Given the description of an element on the screen output the (x, y) to click on. 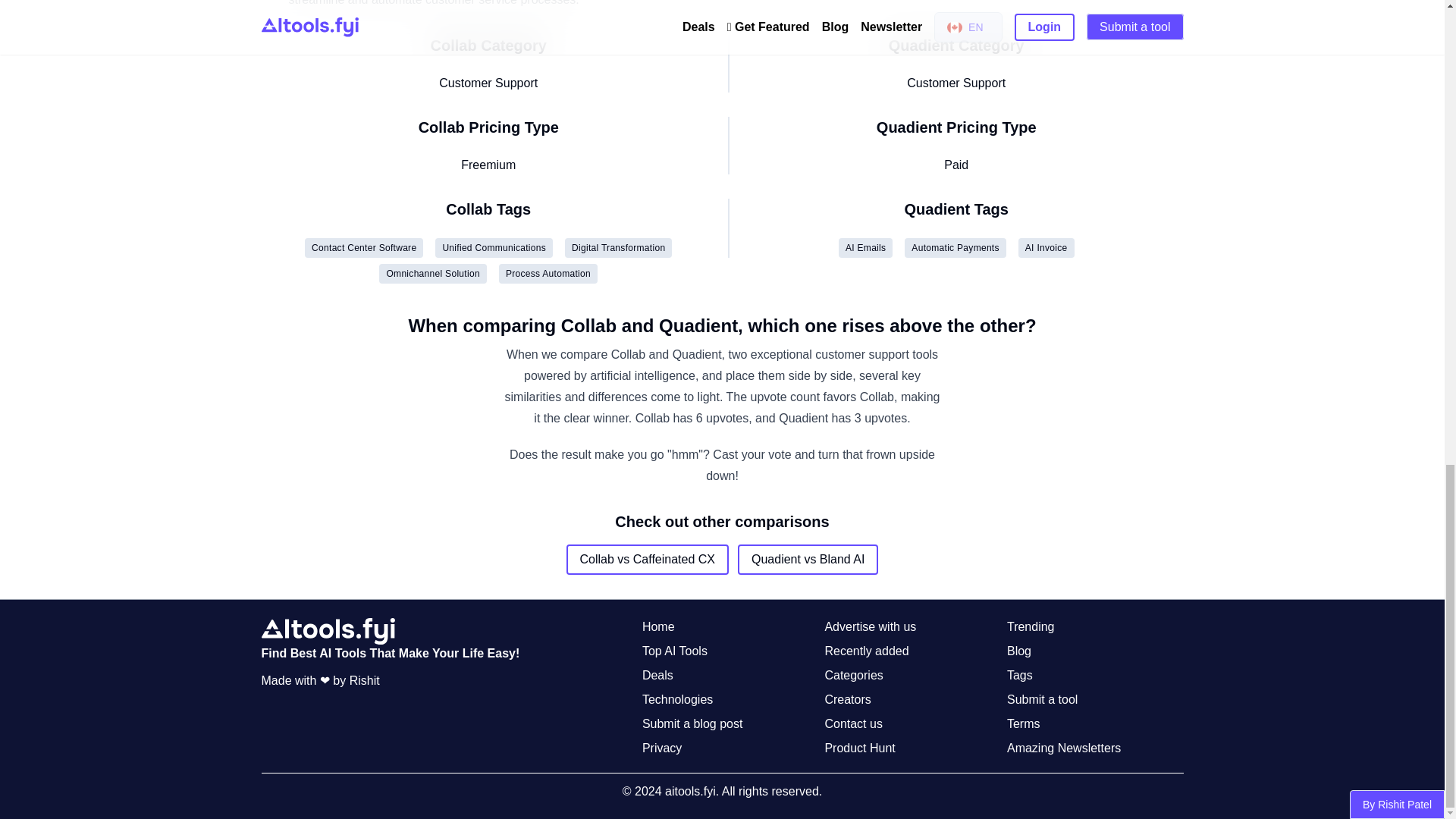
Blog (1018, 651)
Deals (657, 675)
Rishit (364, 680)
Categories (853, 675)
Advertise with us (869, 627)
Tags (1019, 675)
Collab vs Caffeinated CX (647, 559)
Quadient vs Bland AI (807, 559)
Top AI Tools (674, 651)
Trending (1030, 627)
